Given the description of an element on the screen output the (x, y) to click on. 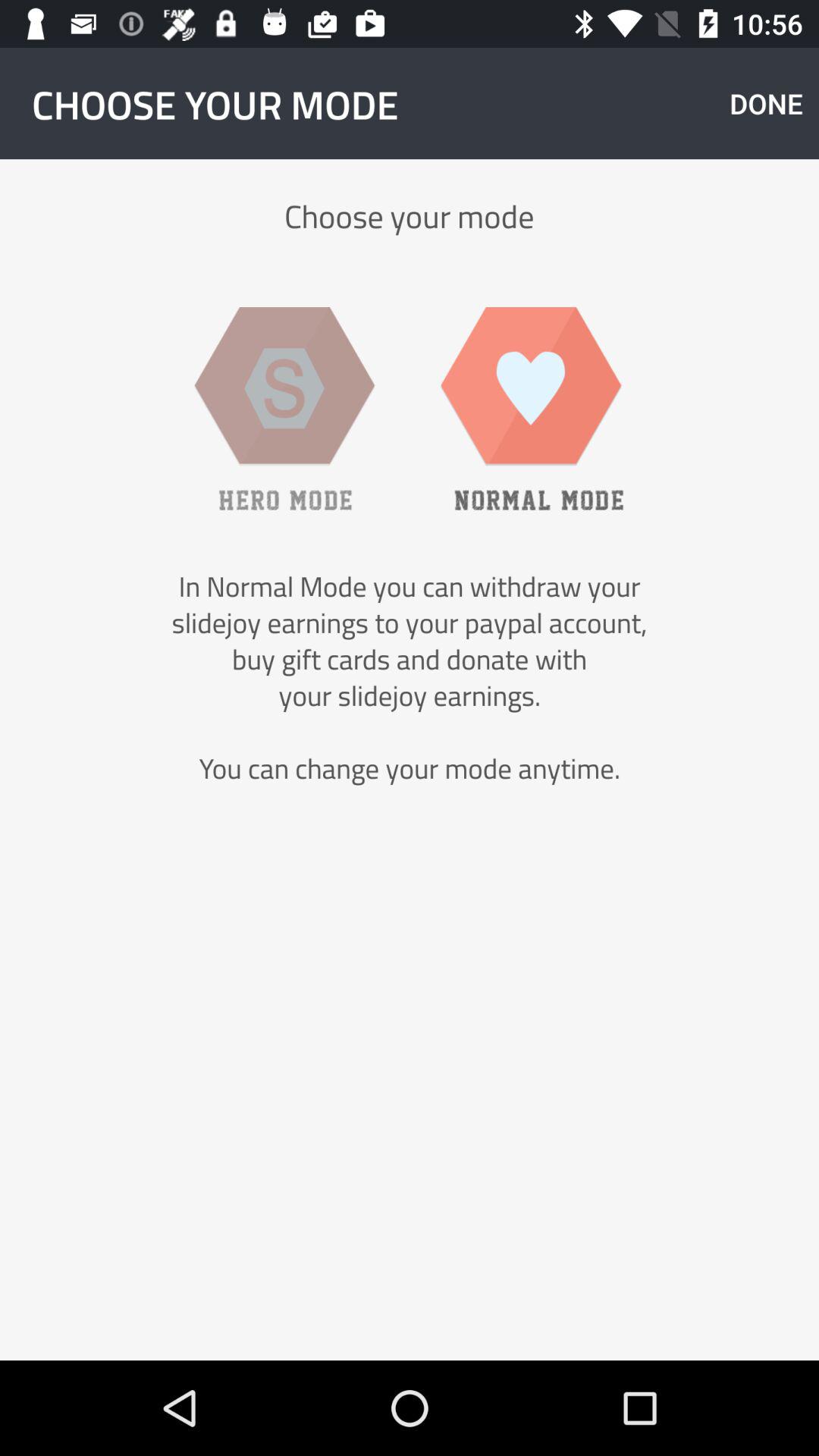
press the item below the choose your mode item (531, 408)
